Given the description of an element on the screen output the (x, y) to click on. 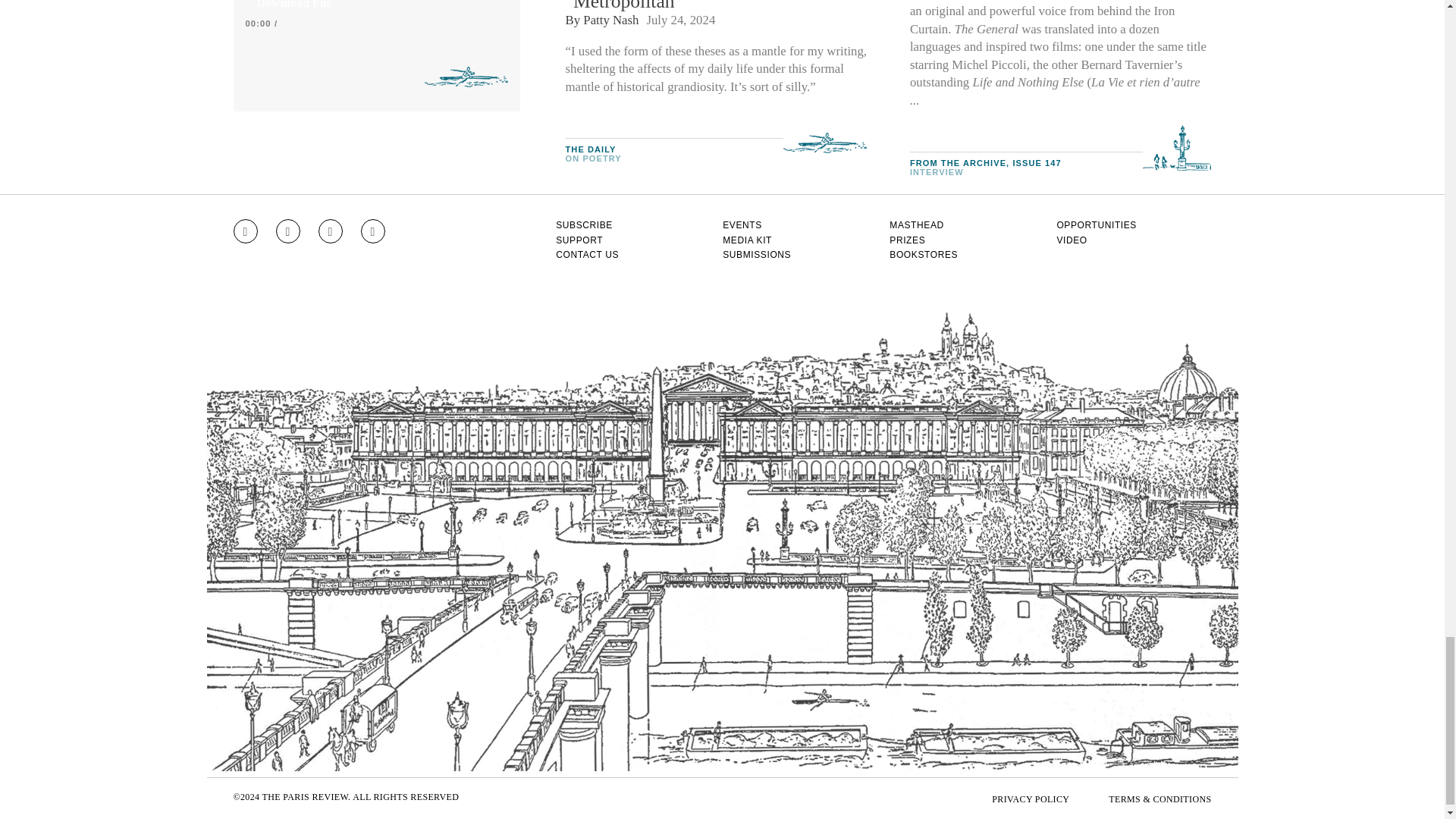
Go to RSS feed (373, 231)
Go to Facebook page (287, 231)
Go to Instagram feed (244, 231)
Go to Twitter feed (330, 231)
